Given the description of an element on the screen output the (x, y) to click on. 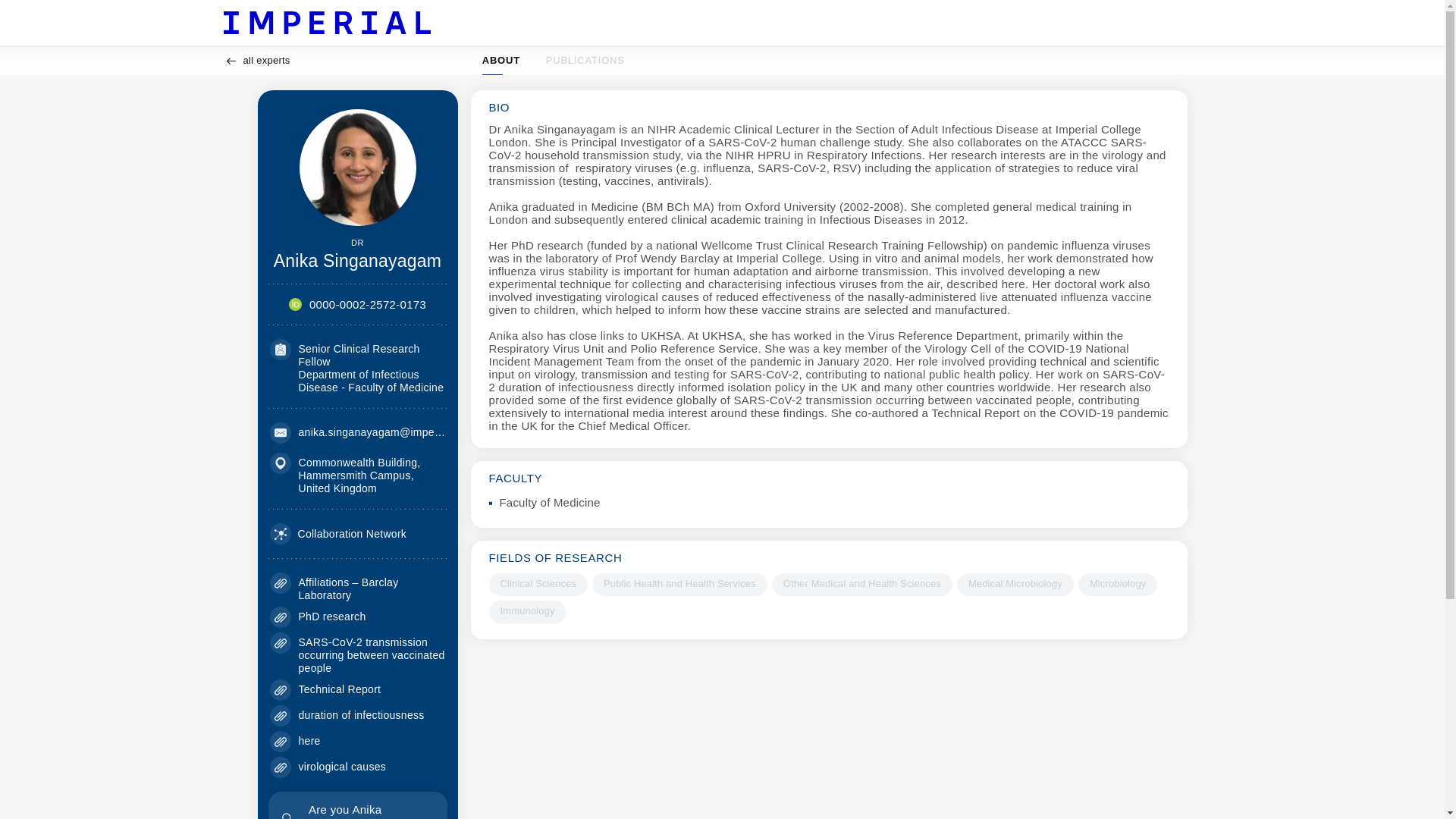
here (309, 740)
Public Health and Health Services (679, 584)
SARS-CoV-2 transmission occurring between vaccinated people (371, 655)
PUBLICATIONS (585, 60)
0000-0002-2572-0173 (367, 304)
Other Medical and Health Sciences (553, 60)
Immunology (861, 584)
Clinical Sciences (526, 611)
Technical Report (536, 584)
Medical Microbiology (339, 689)
Collaboration Network (1015, 584)
ABOUT (338, 533)
all experts (356, 805)
